Given the description of an element on the screen output the (x, y) to click on. 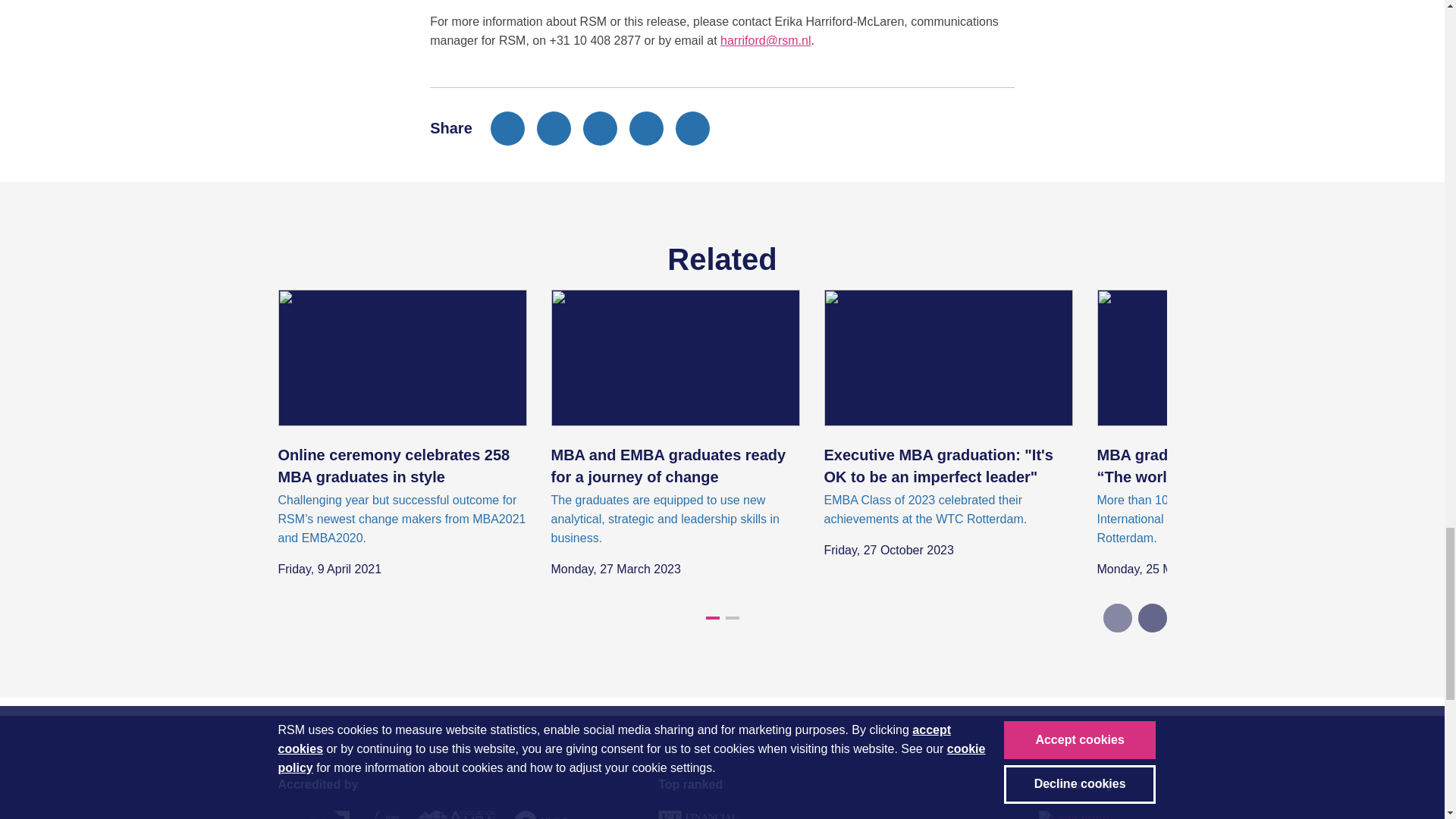
Share this on LinkedIn (600, 128)
Share this on Twitter (553, 128)
Email this (645, 128)
Share this on Facebook (507, 128)
